Given the description of an element on the screen output the (x, y) to click on. 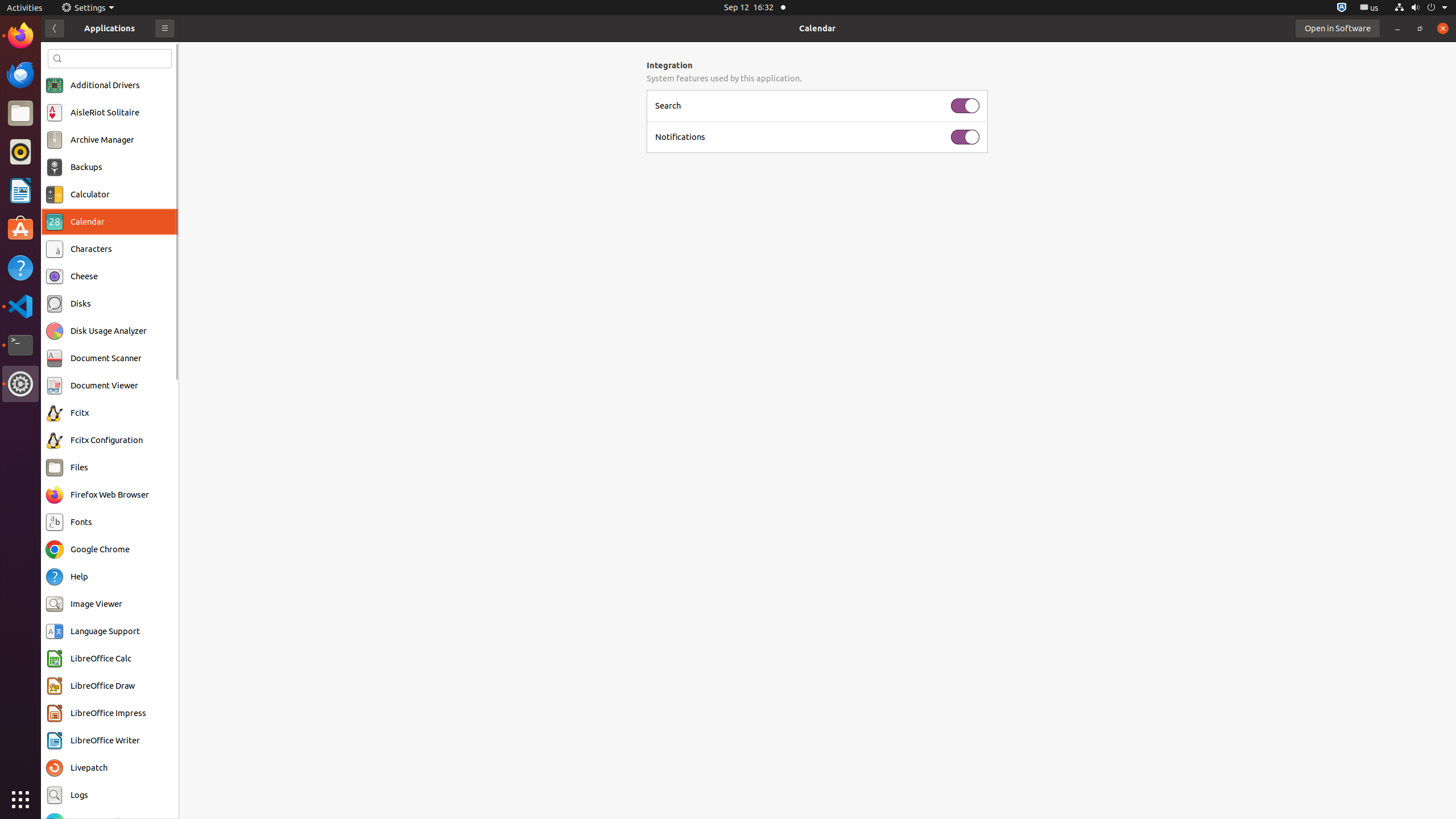
Language Support Element type: label (104, 631)
Logs Element type: label (79, 795)
Settings Element type: push-button (20, 383)
Search Element type: text (109, 58)
